Given the description of an element on the screen output the (x, y) to click on. 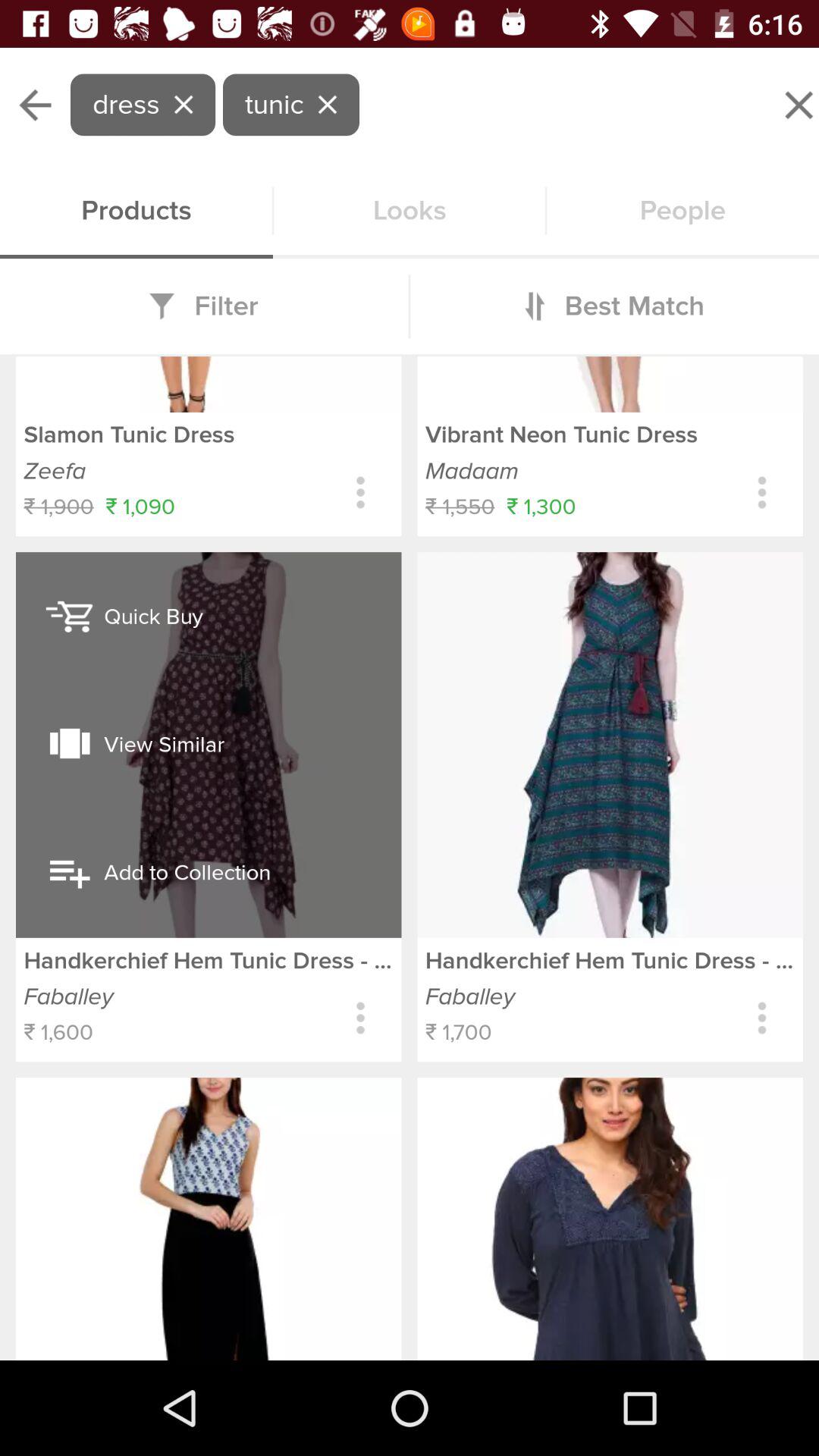
open buying options (762, 492)
